Given the description of an element on the screen output the (x, y) to click on. 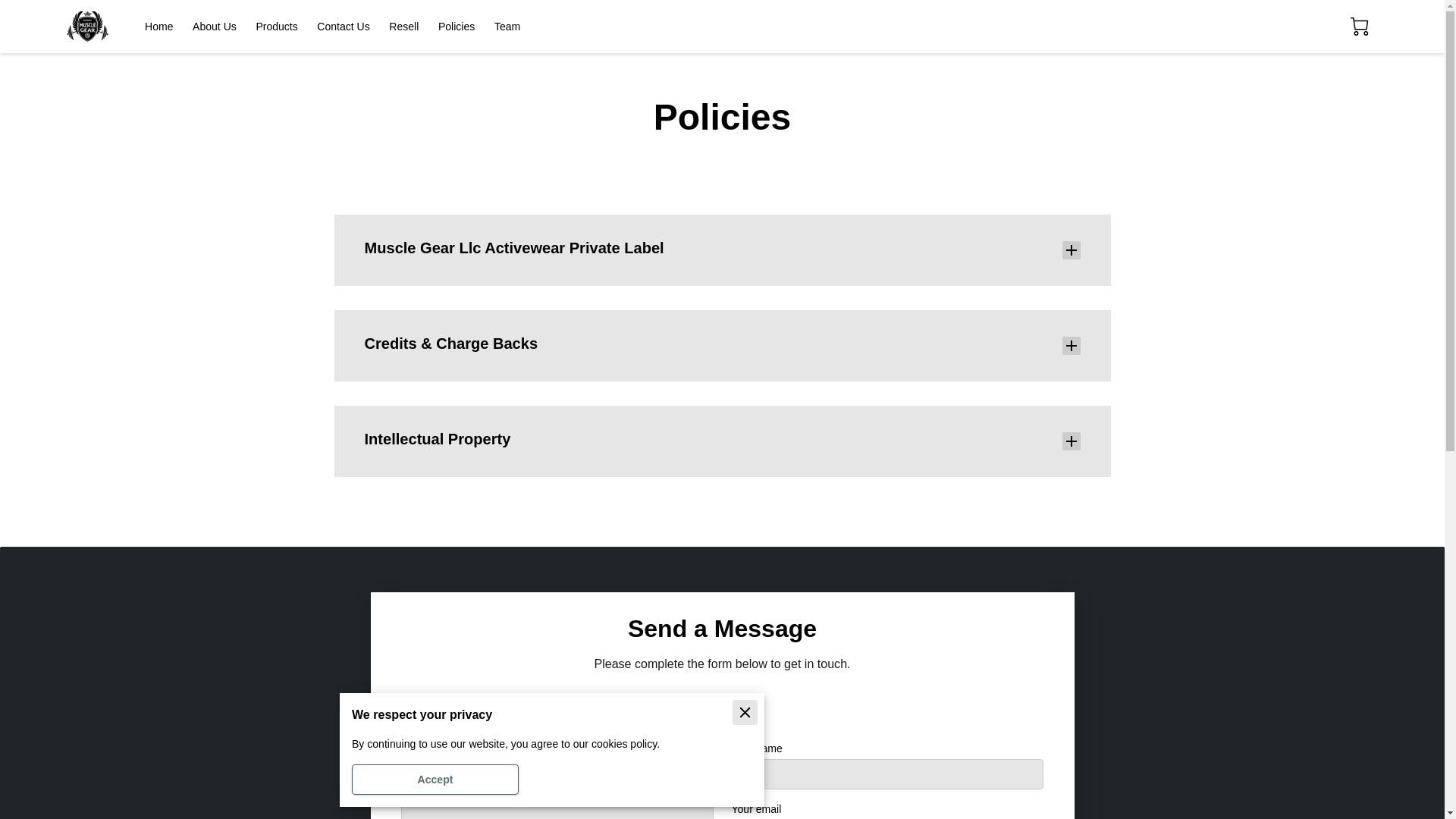
Accept (435, 779)
0 (1359, 26)
About Us (213, 26)
Resell (403, 26)
Policies (456, 26)
Products (276, 26)
Team (507, 26)
Contact Us (343, 26)
Home (158, 26)
